Given the description of an element on the screen output the (x, y) to click on. 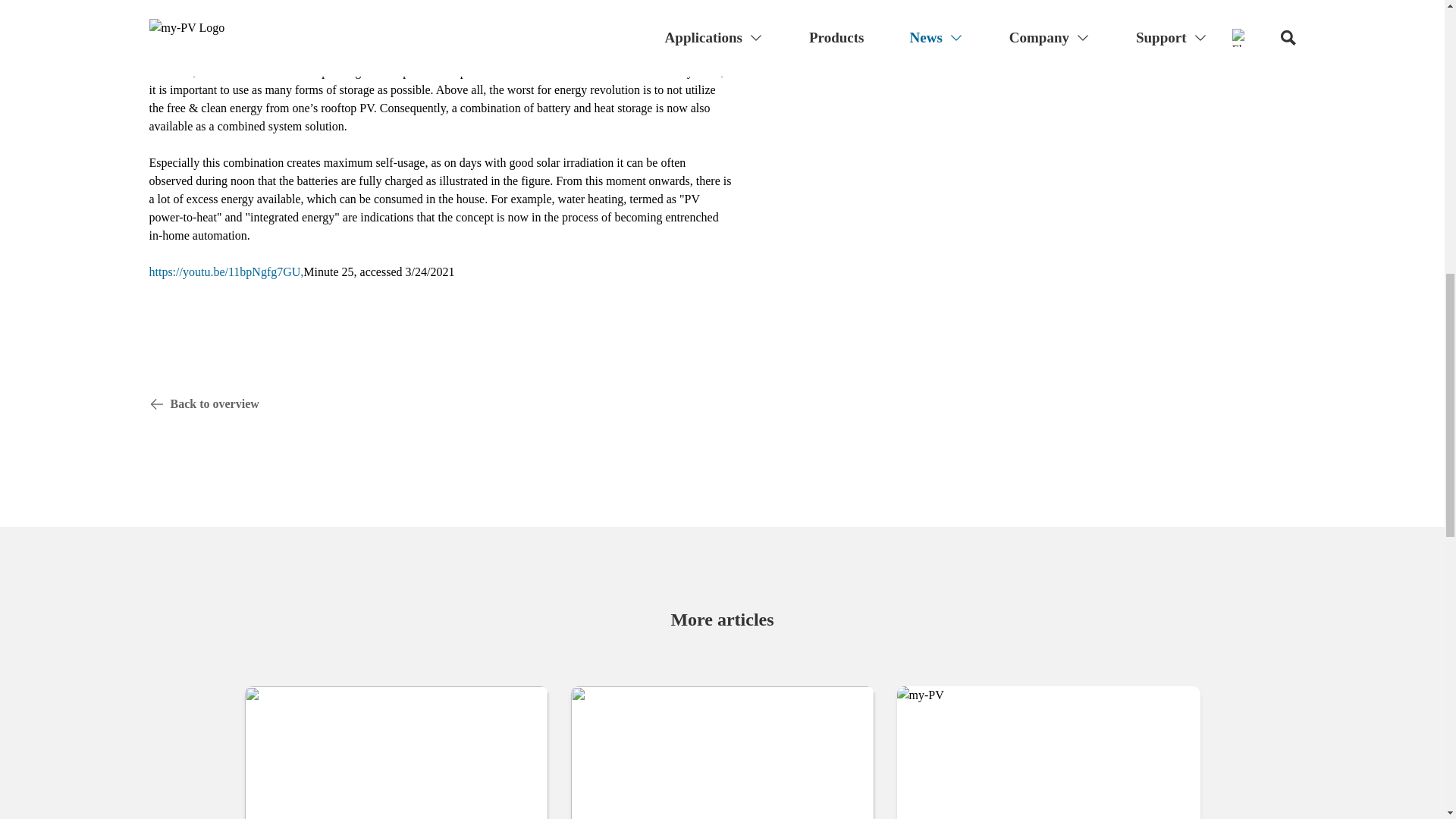
Back to overview (721, 402)
